Given the description of an element on the screen output the (x, y) to click on. 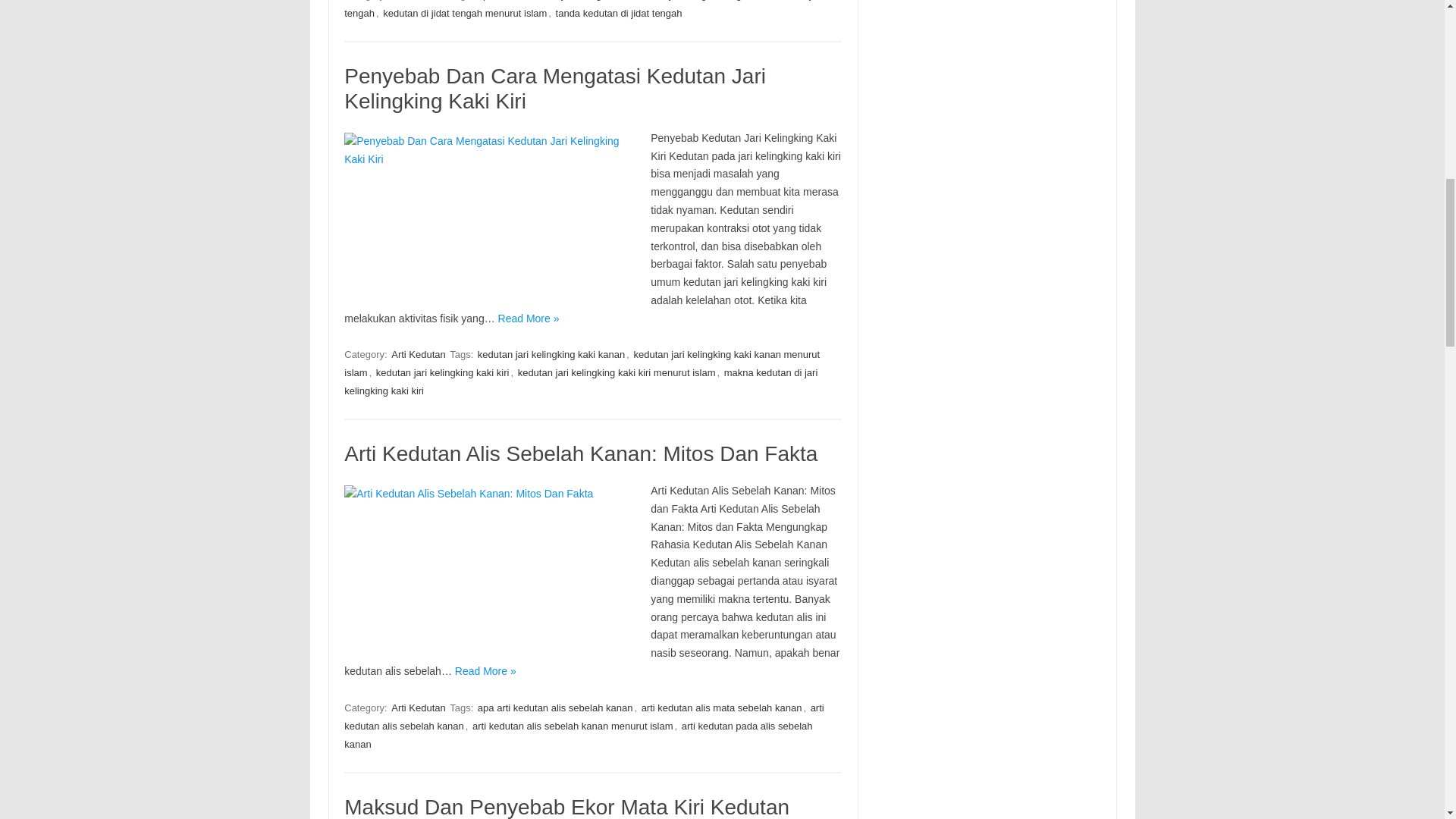
Arti Kedutan (418, 707)
kedutan jari kelingking kaki kiri (442, 372)
kedutan di jidat tengah (585, 10)
kedutan jari kelingking kaki kiri menurut islam (616, 372)
Arti Kedutan Alis Sebelah Kanan: Mitos Dan Fakta (579, 454)
kedutan di jidat tengah menurut islam (464, 12)
Arti Kedutan (418, 1)
kedutan jari kelingking kaki kanan menurut islam (581, 363)
Arti Kedutan Alis Sebelah Kanan: Mitos Dan Fakta (487, 561)
